Given the description of an element on the screen output the (x, y) to click on. 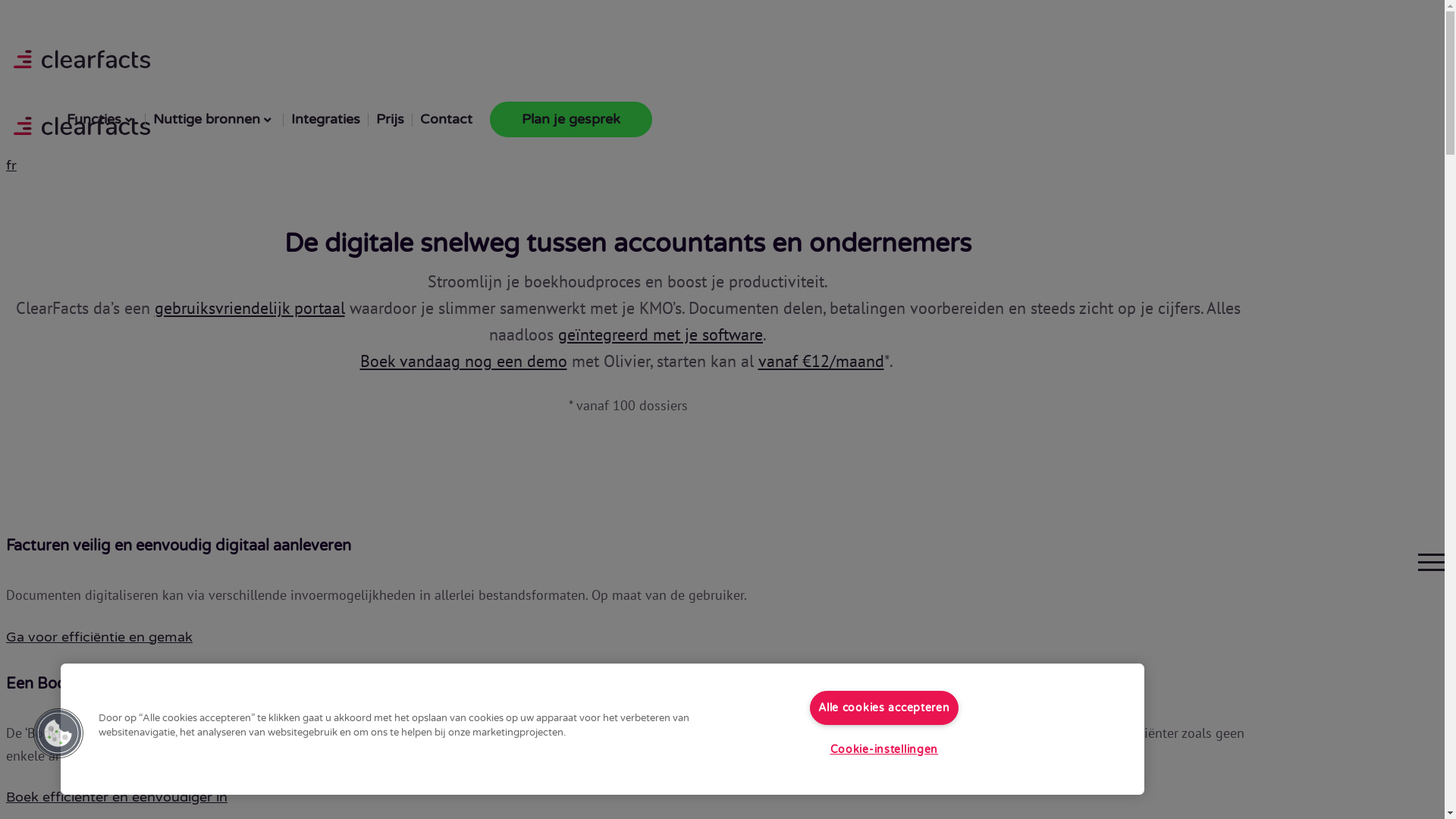
Prijs Element type: text (390, 119)
Nuttige bronnen Element type: text (214, 119)
Cookies Button Element type: text (58, 733)
gebruiksvriendelijk portaal Element type: text (249, 307)
Functies Element type: text (101, 119)
Plan je gesprek Element type: text (570, 119)
Alle cookies accepteren Element type: text (883, 707)
fr Element type: text (11, 164)
Cookie-instellingen Element type: text (883, 749)
Boek vandaag nog een demo Element type: text (462, 360)
Contact Element type: text (446, 119)
Integraties Element type: text (325, 119)
